Given the description of an element on the screen output the (x, y) to click on. 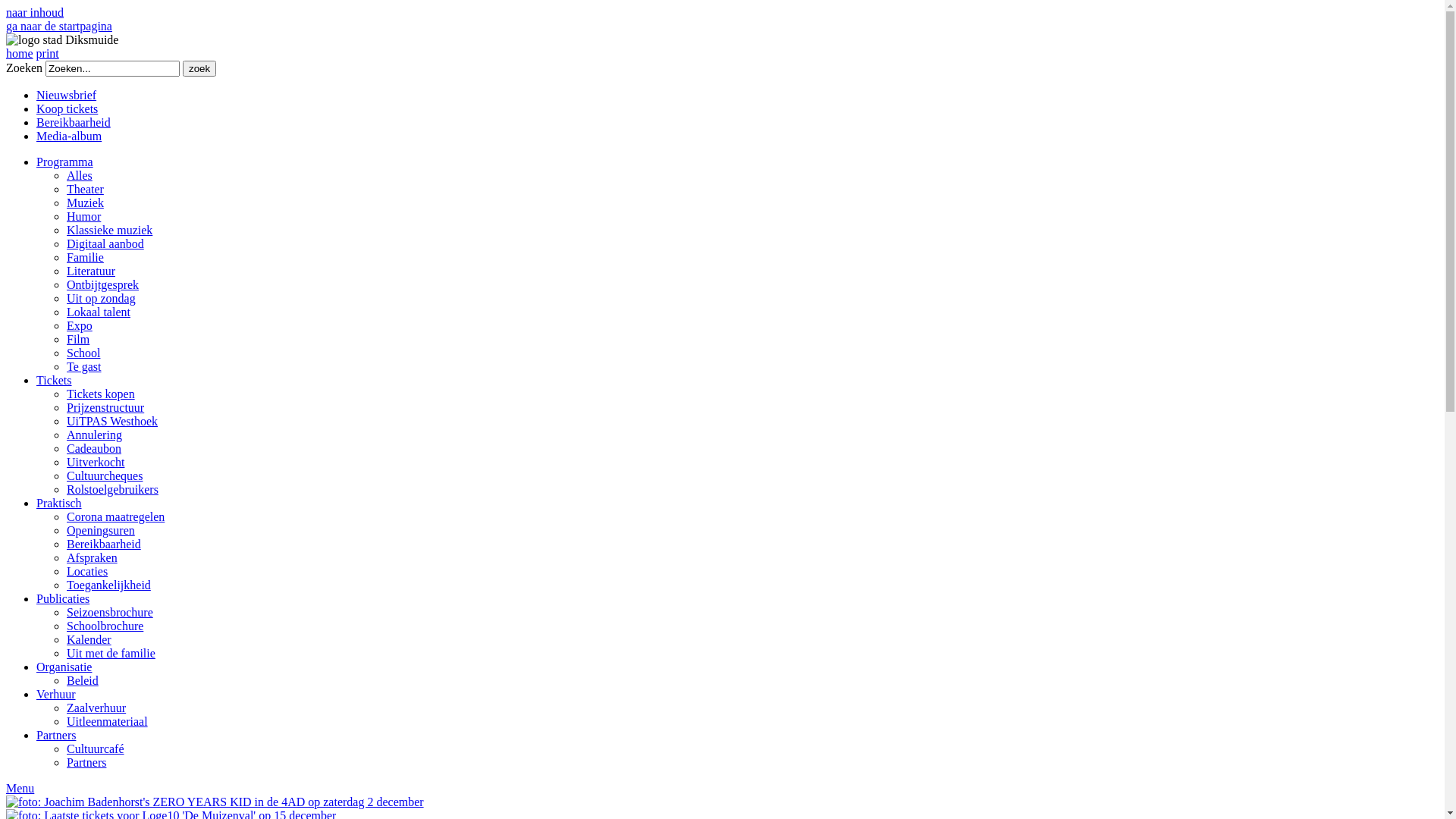
Koop tickets Element type: text (66, 108)
Bereikbaarheid Element type: text (73, 122)
Muziek Element type: text (84, 202)
Bereikbaarheid Element type: text (103, 543)
ga naar de startpagina Element type: text (59, 25)
zoek Element type: text (199, 68)
Schoolbrochure Element type: text (104, 625)
Publicaties Element type: text (62, 598)
Openingsuren Element type: text (100, 530)
Seizoensbrochure Element type: text (109, 611)
Organisatie Element type: text (63, 666)
Zaalverhuur Element type: text (95, 707)
Digitaal aanbod Element type: text (105, 243)
Media-album Element type: text (68, 135)
Kalender Element type: text (88, 639)
School Element type: text (83, 352)
Cultuurcheques Element type: text (104, 475)
Toegankelijkheid Element type: text (108, 584)
Cadeaubon Element type: text (93, 448)
Tickets Element type: text (54, 379)
Beleid Element type: text (82, 680)
Literatuur Element type: text (90, 270)
Familie Element type: text (84, 257)
Afspraken Element type: text (91, 557)
Expo Element type: text (79, 325)
Tickets kopen Element type: text (100, 393)
Uit op zondag Element type: text (100, 297)
Nieuwsbrief Element type: text (66, 94)
Rolstoelgebruikers Element type: text (112, 489)
Prijzenstructuur Element type: text (105, 407)
Ontbijtgesprek Element type: text (102, 284)
Film Element type: text (77, 338)
print Element type: text (47, 53)
Theater Element type: text (84, 188)
Te gast Element type: text (83, 366)
Partners Element type: text (55, 734)
Corona maatregelen Element type: text (115, 516)
home Element type: text (19, 53)
Menu Element type: text (20, 787)
Verhuur Element type: text (55, 693)
Uit met de familie Element type: text (110, 652)
UiTPAS Westhoek Element type: text (111, 420)
Locaties Element type: text (86, 570)
Uitleenmateriaal Element type: text (106, 721)
Annulering Element type: text (94, 434)
Uitverkocht Element type: text (95, 461)
naar inhoud Element type: text (34, 12)
Partners Element type: text (86, 762)
Praktisch Element type: text (58, 502)
Programma Element type: text (64, 161)
Lokaal talent Element type: text (98, 311)
Humor Element type: text (83, 216)
Klassieke muziek Element type: text (109, 229)
Alles Element type: text (79, 175)
